Given the description of an element on the screen output the (x, y) to click on. 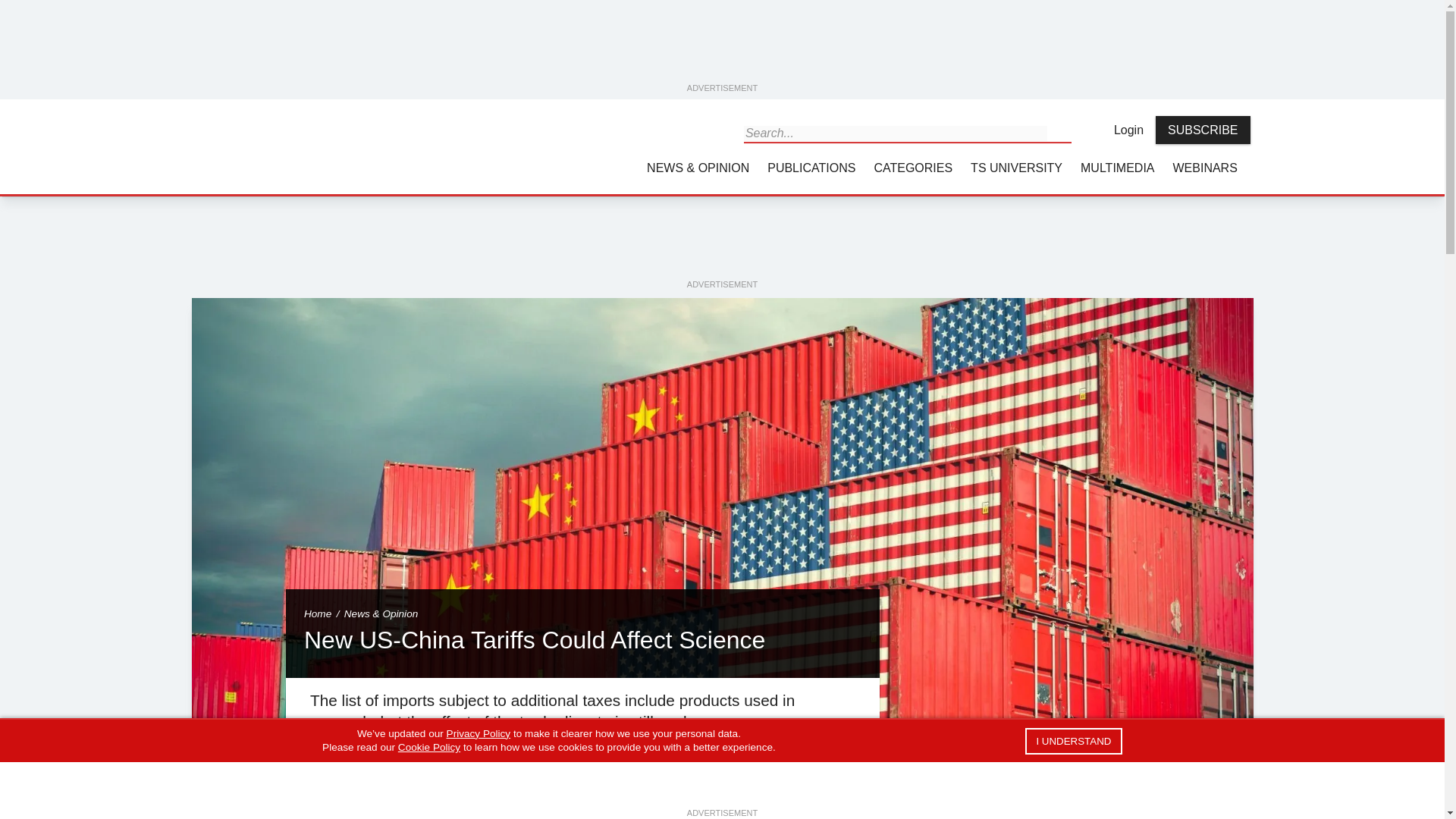
Diana Kwon (328, 763)
